Given the description of an element on the screen output the (x, y) to click on. 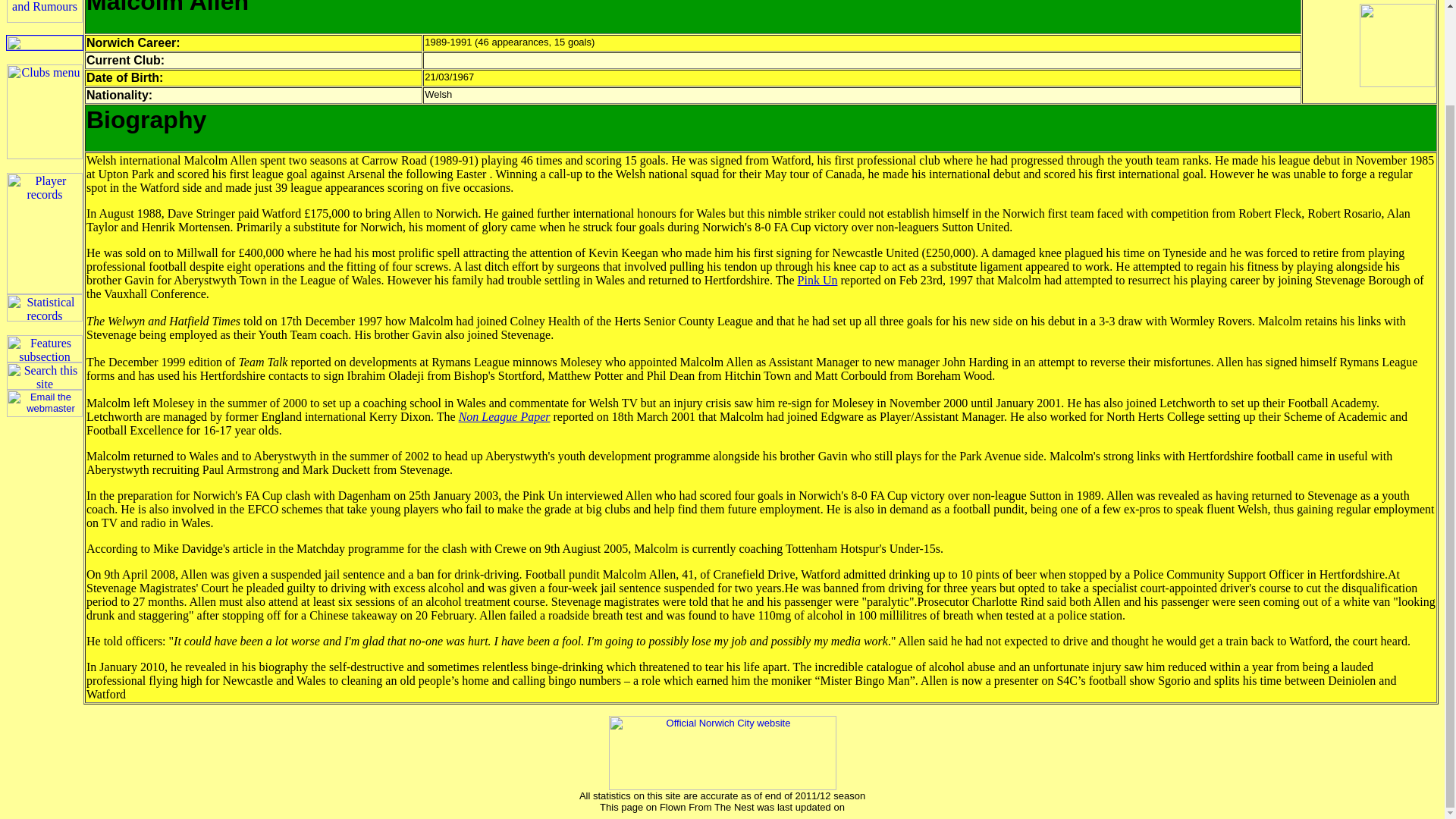
Non League Paper (504, 416)
Pink Un (817, 279)
